Given the description of an element on the screen output the (x, y) to click on. 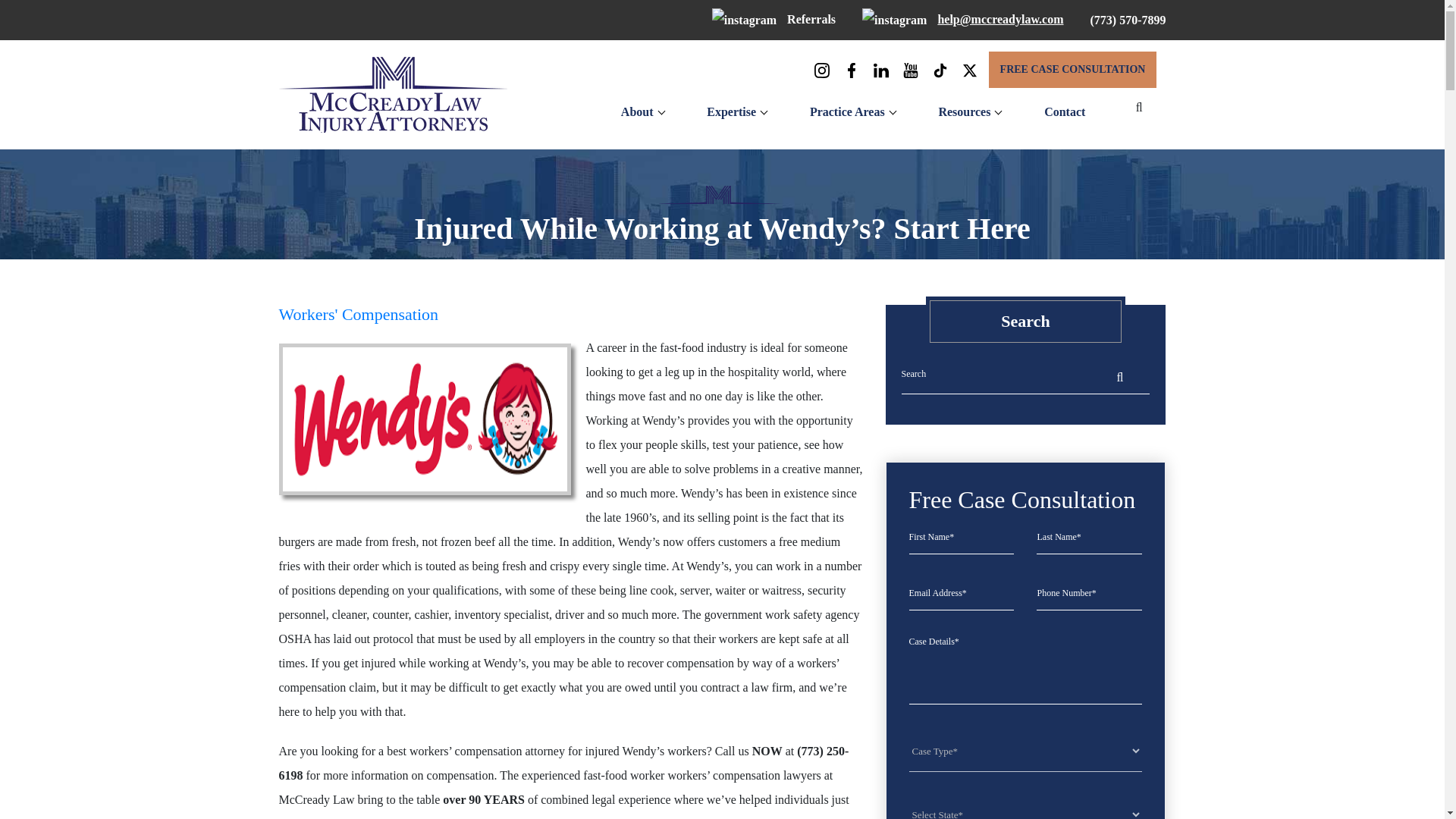
Referrals (773, 19)
Contact McCready Law (1064, 112)
FREE CASE CONSULTATION (1072, 69)
Practice Areas (847, 112)
Expertise (730, 112)
McCready Law (392, 94)
Legal Services Offered (847, 112)
About McCready Law (636, 112)
About (636, 112)
